Given the description of an element on the screen output the (x, y) to click on. 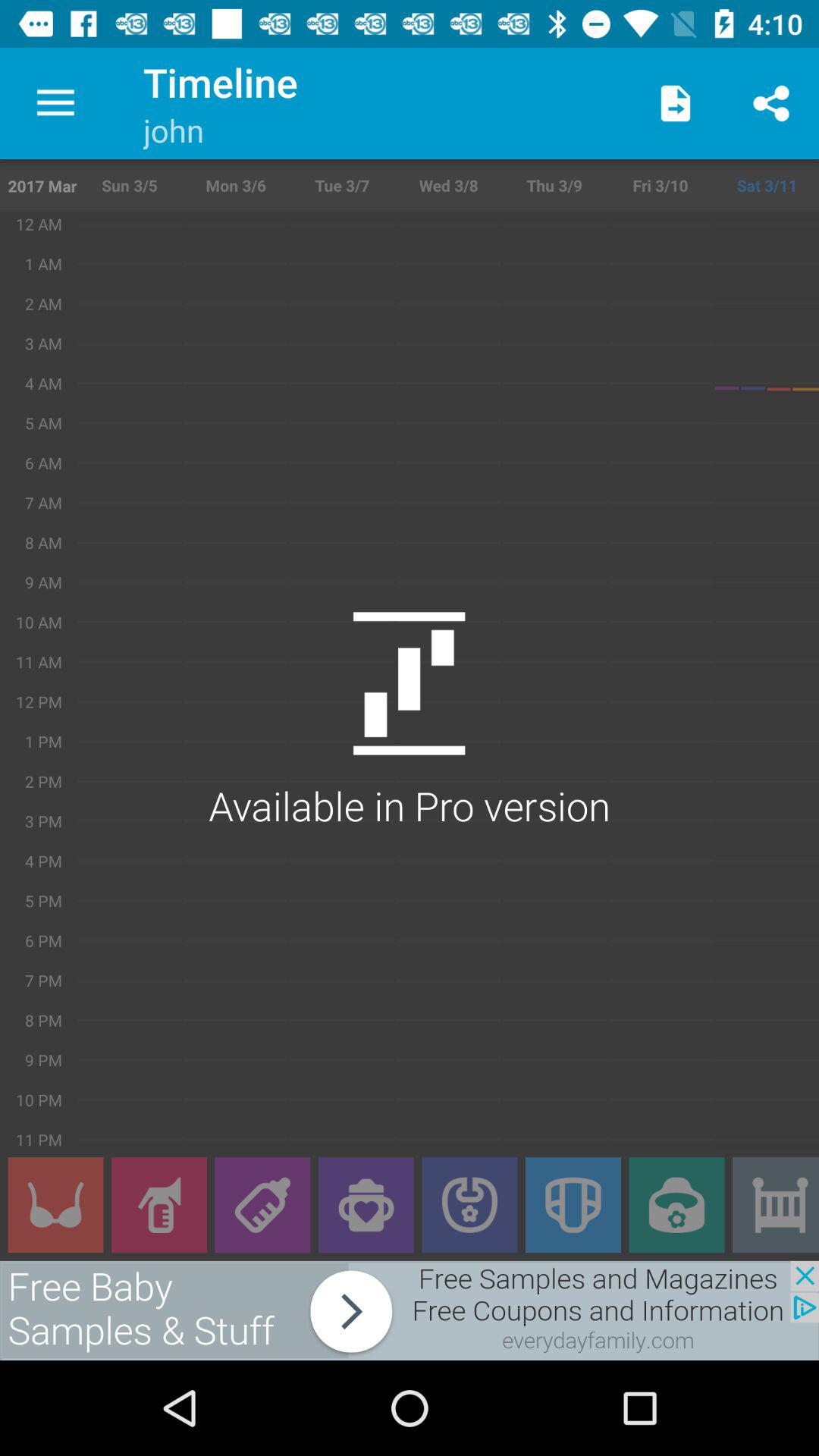
clothing button (55, 1204)
